Given the description of an element on the screen output the (x, y) to click on. 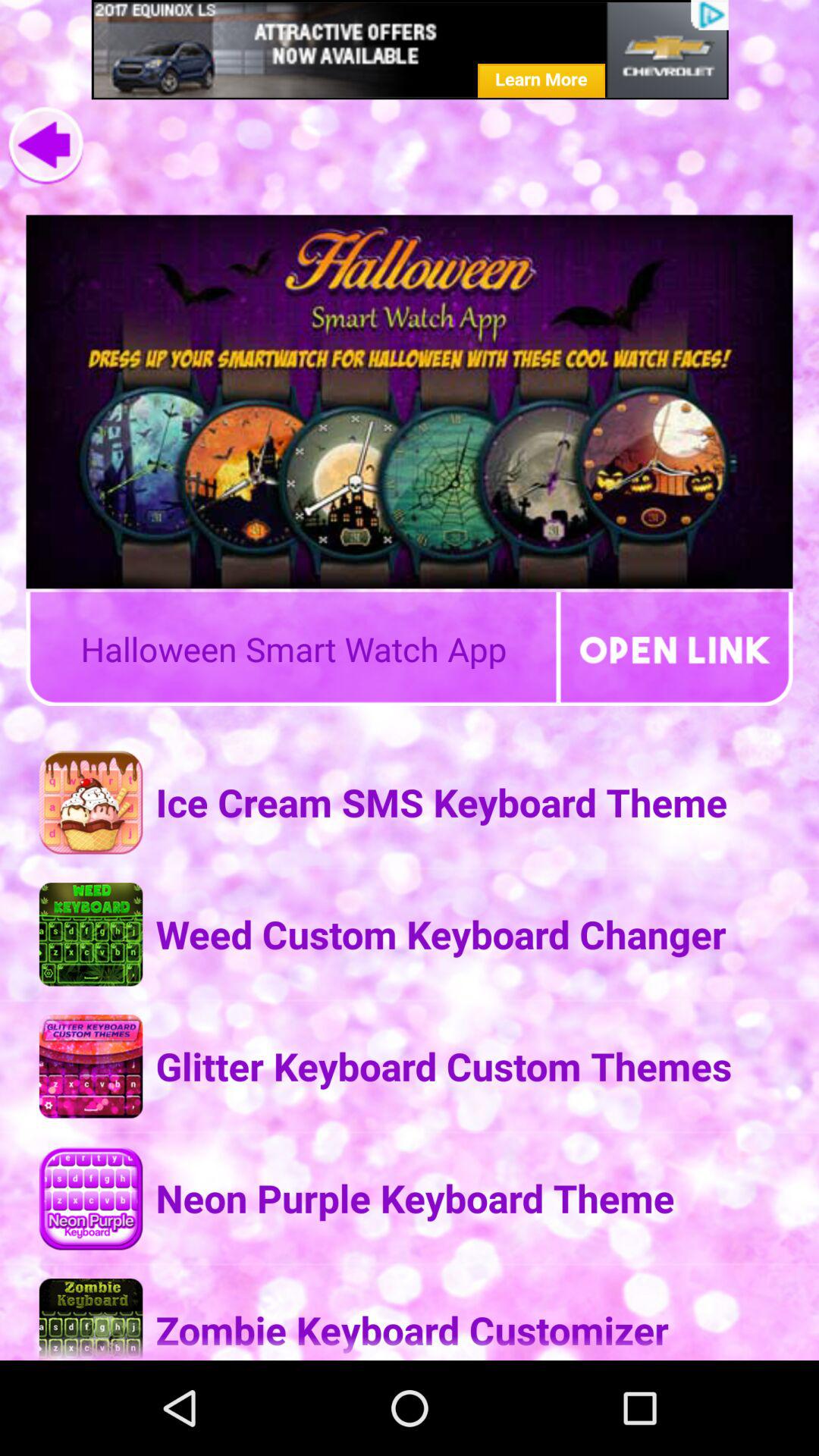
go back (45, 145)
